Given the description of an element on the screen output the (x, y) to click on. 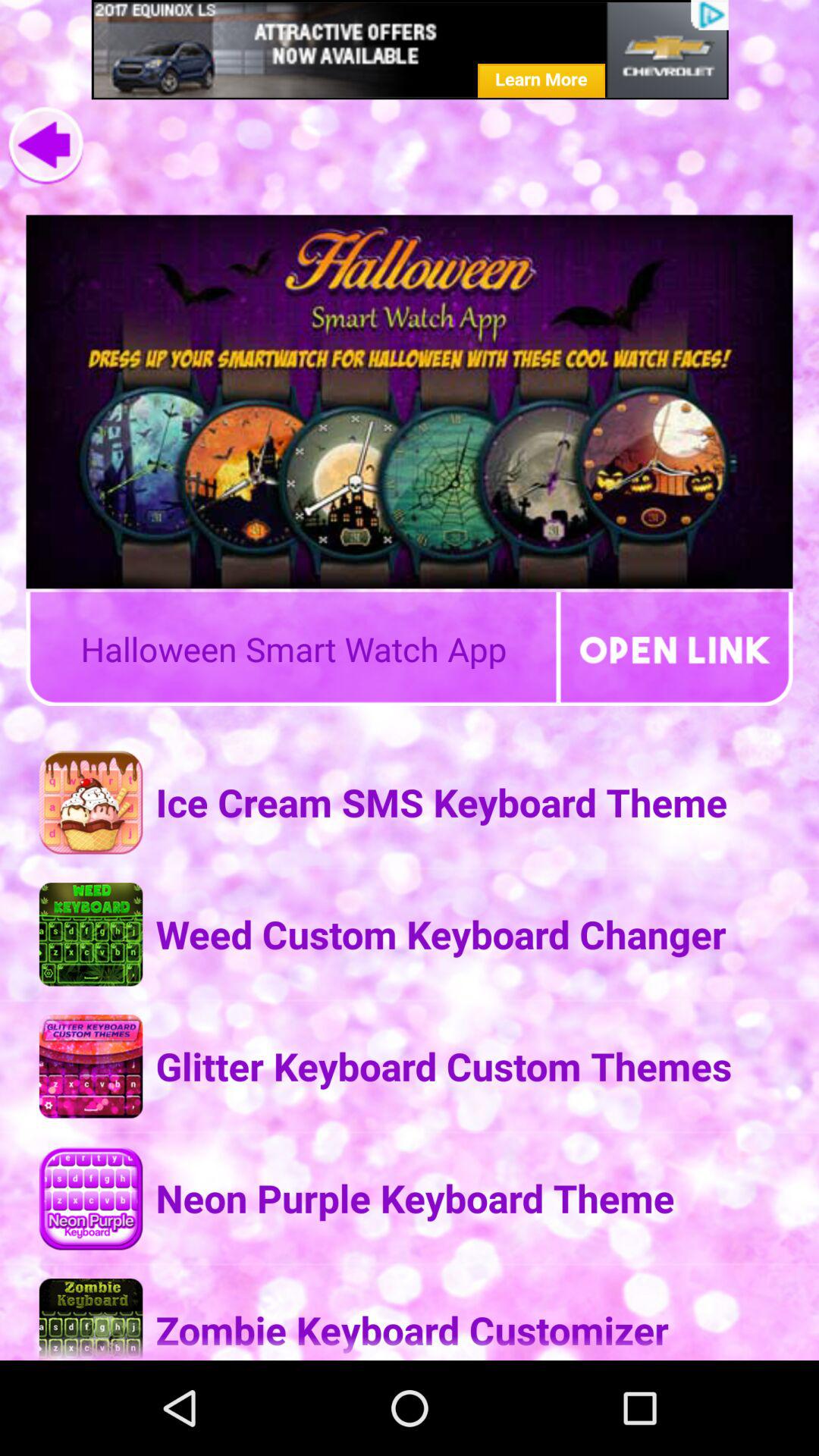
go back (45, 145)
